Given the description of an element on the screen output the (x, y) to click on. 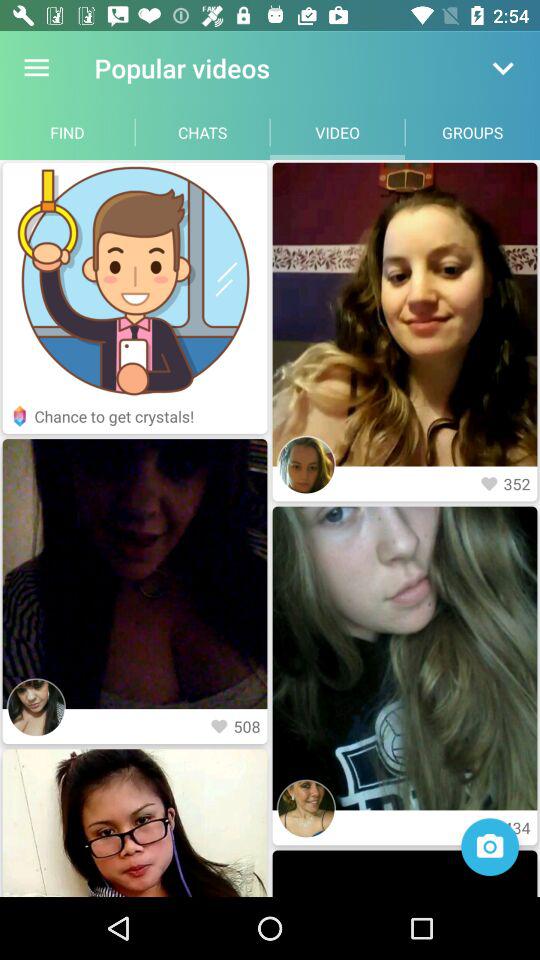
click icon to the right of the video item (472, 132)
